Given the description of an element on the screen output the (x, y) to click on. 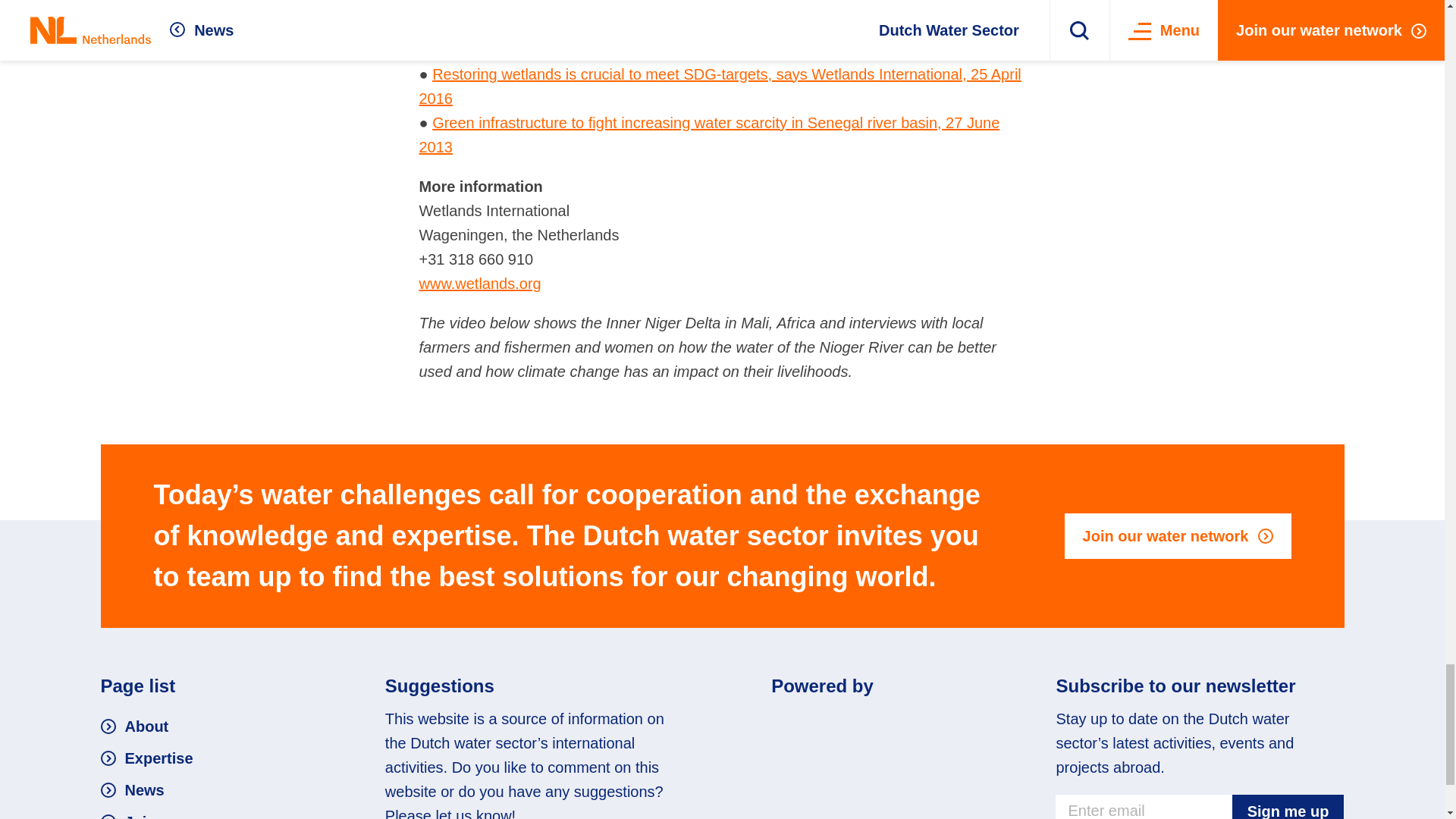
News (131, 790)
Join our water network (1177, 535)
Expertise (146, 758)
www.wetlands.org (479, 283)
About (134, 726)
Image (864, 723)
